Given the description of an element on the screen output the (x, y) to click on. 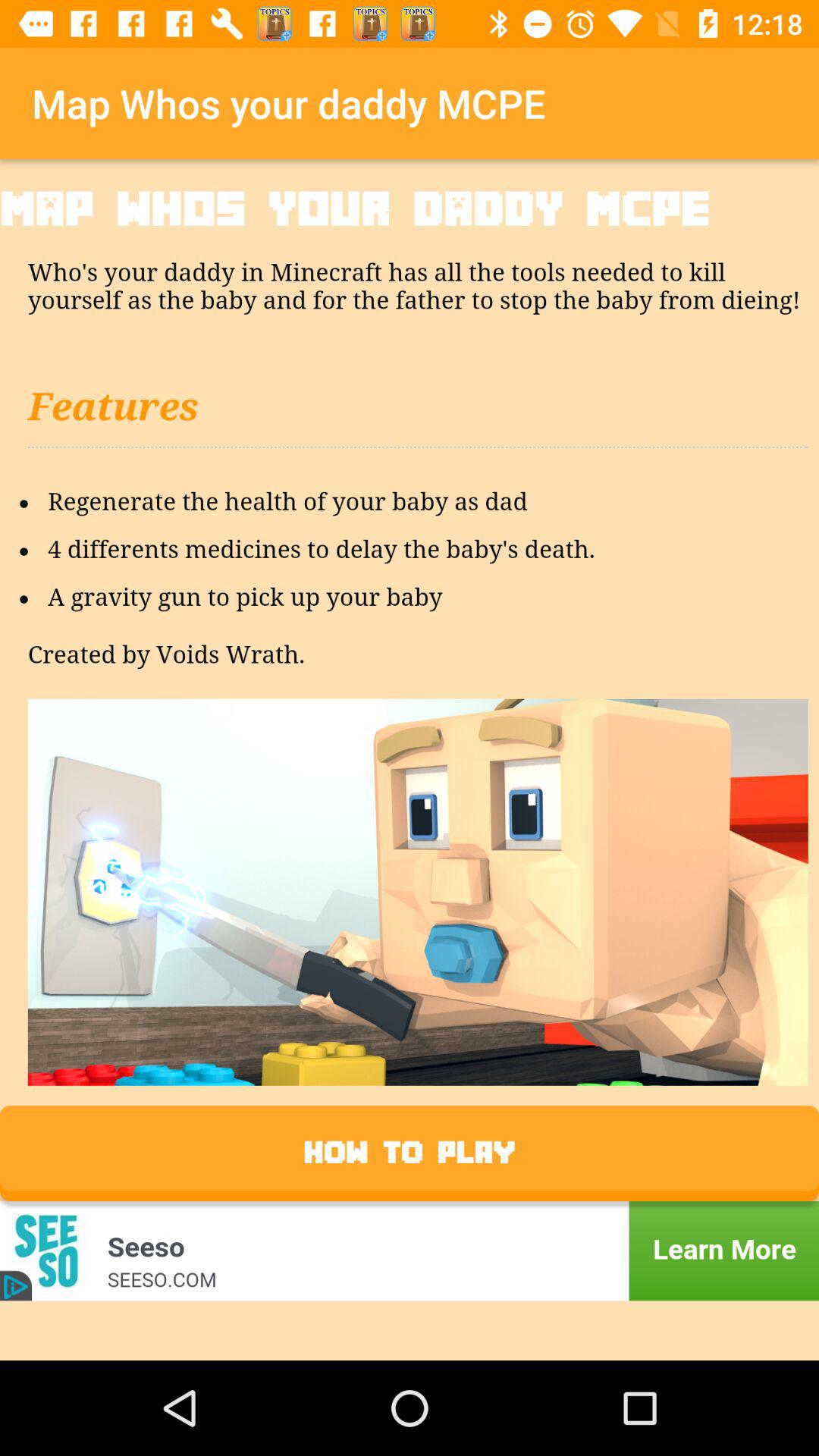
more information about an advertisement (409, 1250)
